Given the description of an element on the screen output the (x, y) to click on. 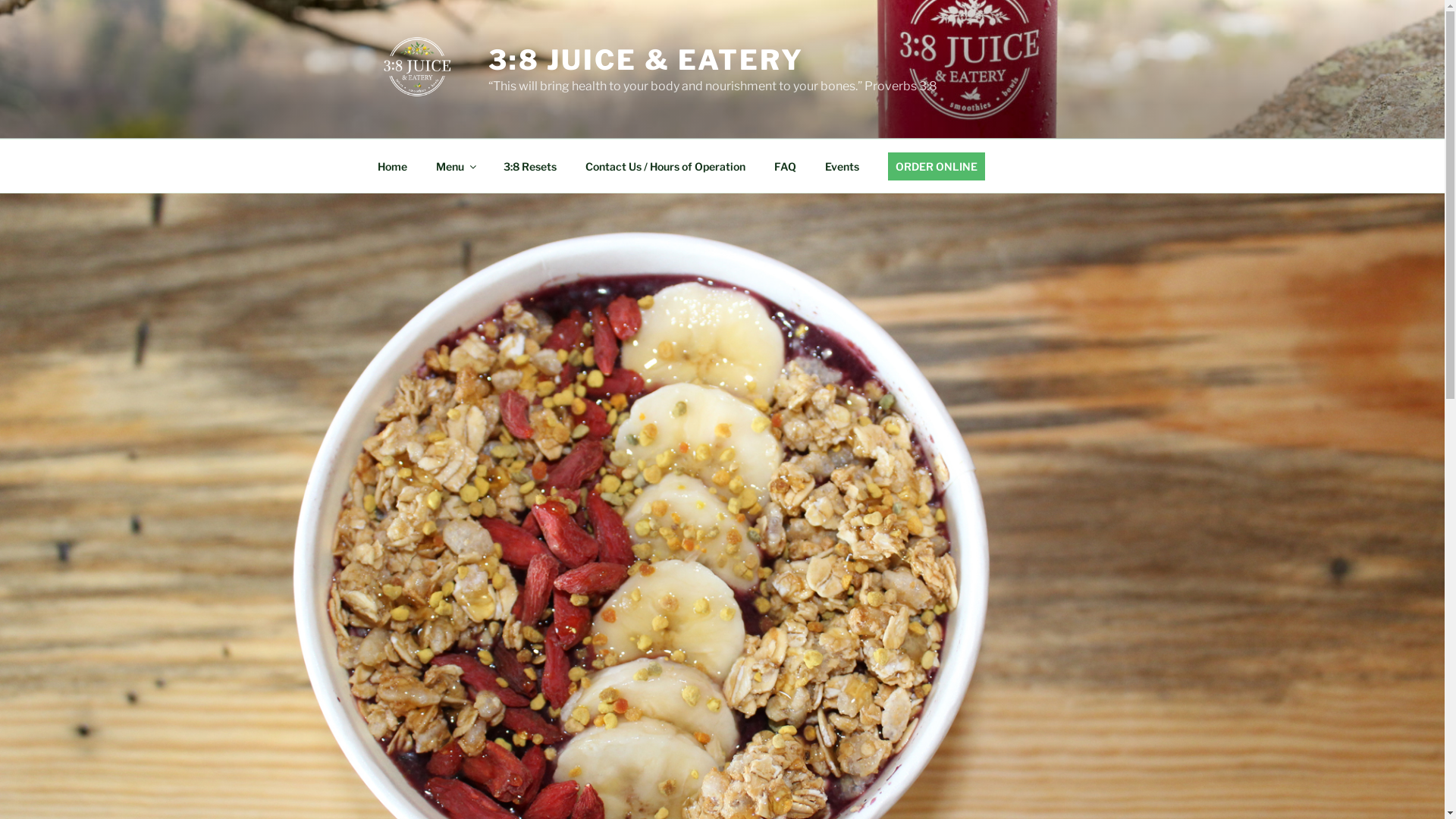
Menu Element type: text (455, 165)
ORDER ONLINE Element type: text (936, 165)
Home Element type: text (392, 165)
Contact Us / Hours of Operation Element type: text (664, 165)
Events Element type: text (841, 165)
3:8 JUICE & EATERY Element type: text (645, 59)
3:8 Resets Element type: text (529, 165)
FAQ Element type: text (785, 165)
